Given the description of an element on the screen output the (x, y) to click on. 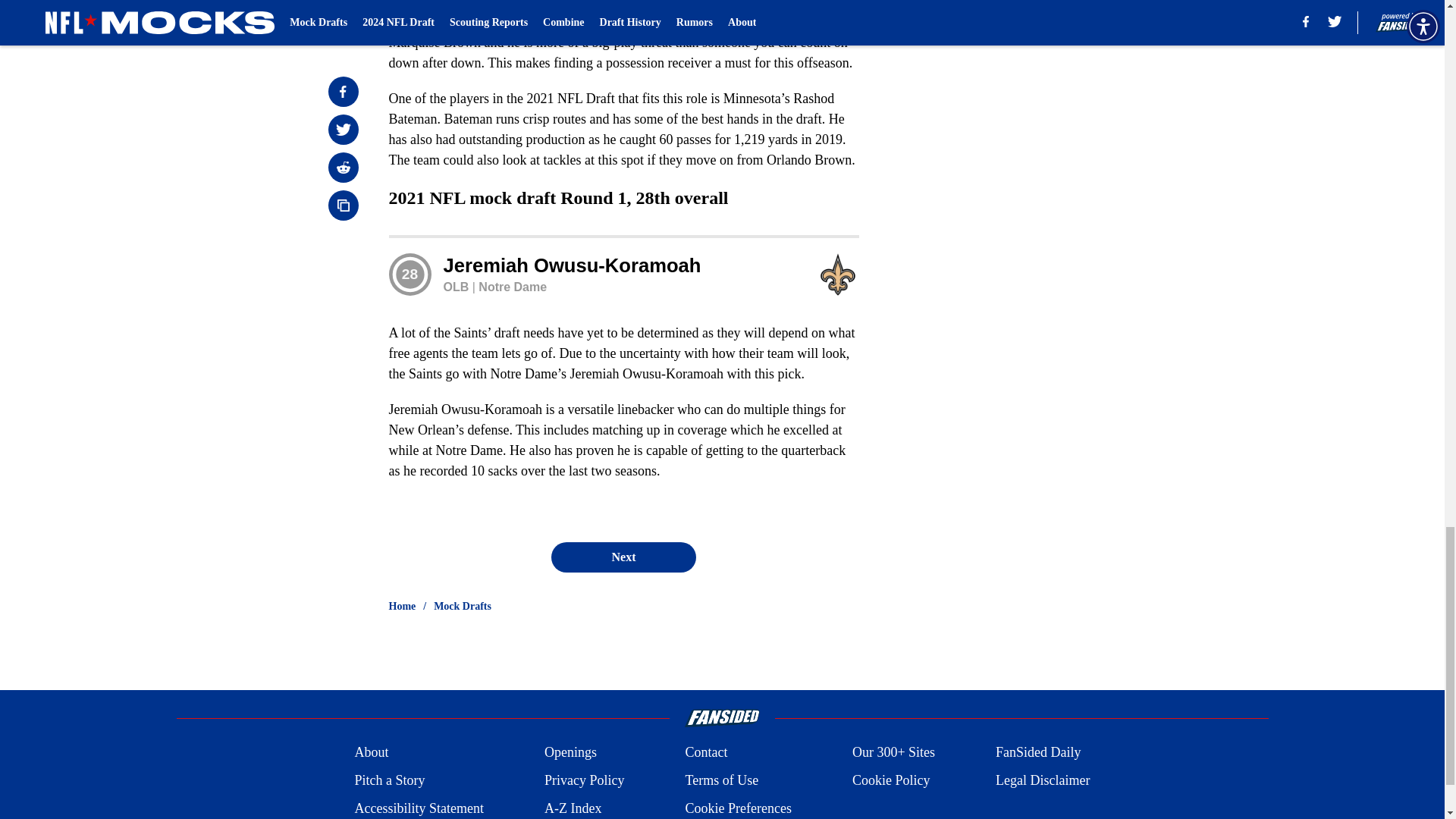
A-Z Index (572, 808)
Next (622, 557)
Legal Disclaimer (1042, 780)
Home (401, 606)
Accessibility Statement (418, 808)
Cookie Policy (890, 780)
Openings (570, 752)
FanSided Daily (1038, 752)
Pitch a Story (389, 780)
Terms of Use (721, 780)
